Given the description of an element on the screen output the (x, y) to click on. 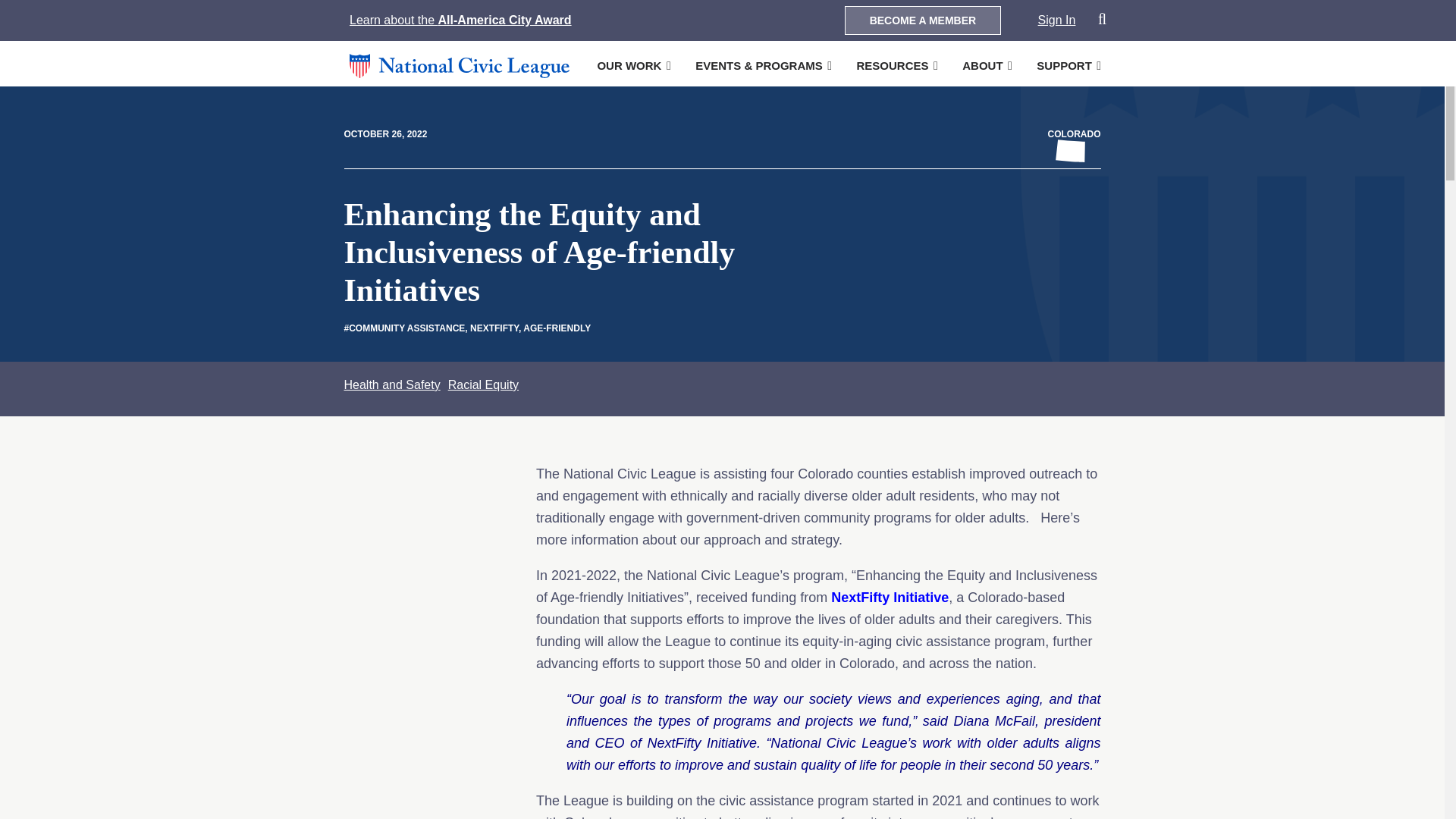
BECOME A MEMBER (922, 20)
RESOURCES (892, 65)
OUR WORK (628, 65)
ABOUT (982, 65)
Sign In (1056, 19)
Learn about the All-America City Award (460, 19)
SUPPORT (1064, 65)
